Given the description of an element on the screen output the (x, y) to click on. 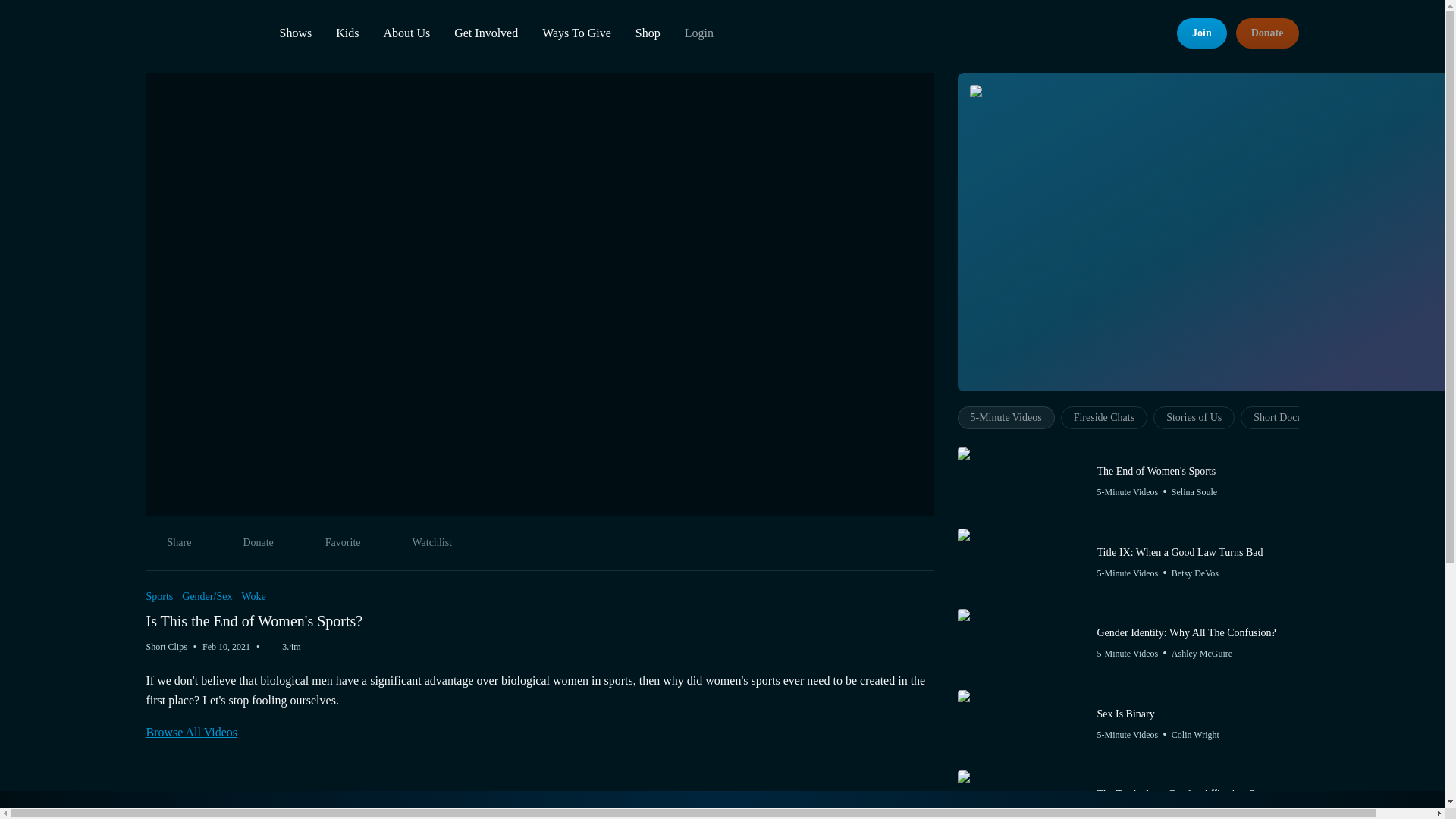
Shows (539, 548)
PragerU (295, 33)
Kids (194, 32)
